Given the description of an element on the screen output the (x, y) to click on. 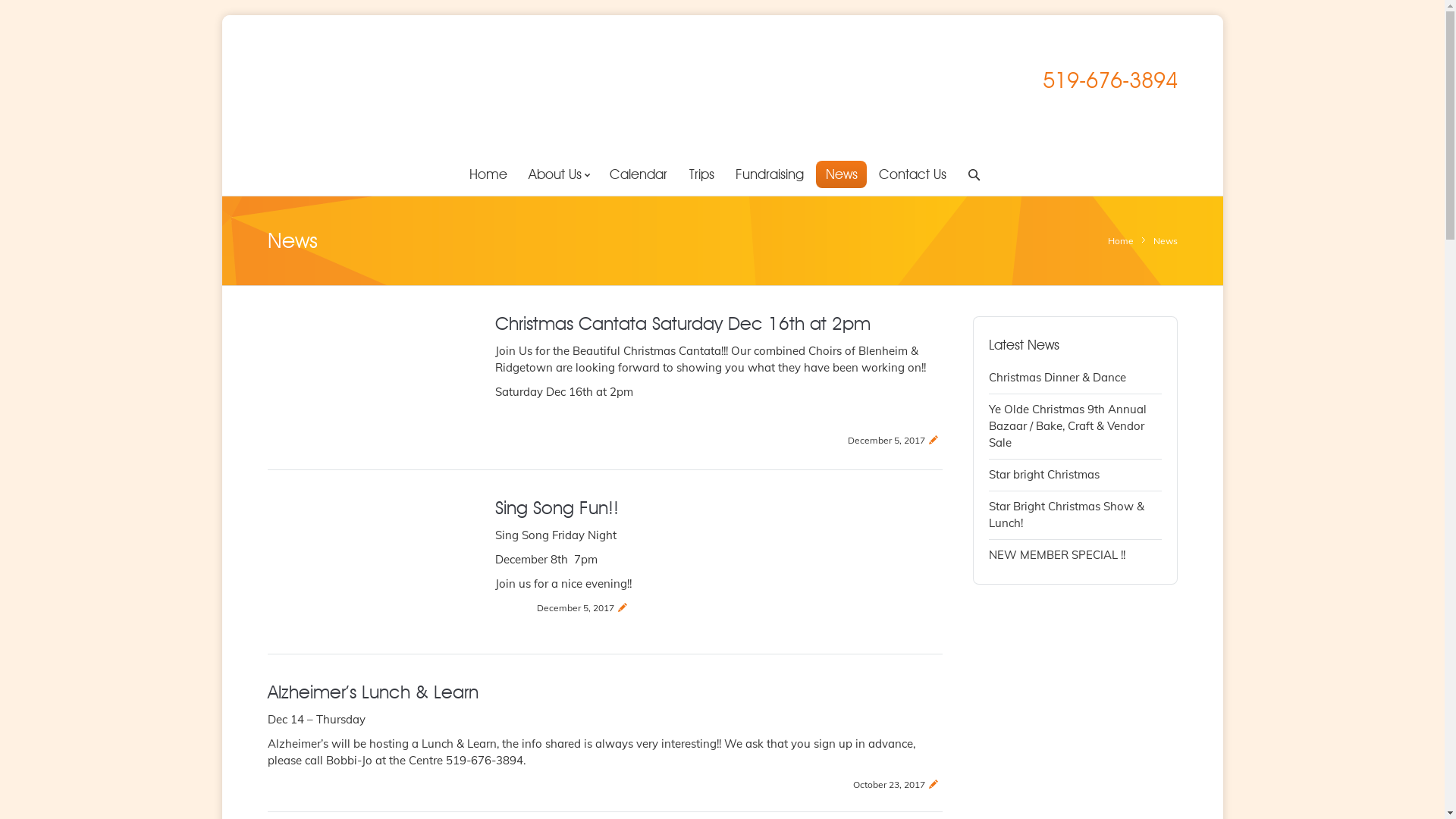
Sing Song Fun!! Element type: text (556, 507)
News Element type: text (1164, 240)
Contact Us Element type: text (912, 174)
Christmas Cantata Saturday Dec 16th at 2pm Element type: text (681, 323)
519-676-3894 Element type: text (1108, 79)
Fundraising Element type: text (769, 174)
Christmas Dinner & Dance Element type: text (1057, 377)
Calendar Element type: text (638, 174)
Home Element type: text (487, 174)
Home Element type: text (1119, 240)
Trips Element type: text (701, 174)
Star bright Christmas Element type: text (1043, 474)
Star Bright Christmas Show & Lunch! Element type: text (1066, 514)
About Us Element type: text (558, 174)
News Element type: text (840, 174)
NEW MEMBER SPECIAL !! Element type: text (1056, 554)
Go! Element type: text (15, 9)
